Given the description of an element on the screen output the (x, y) to click on. 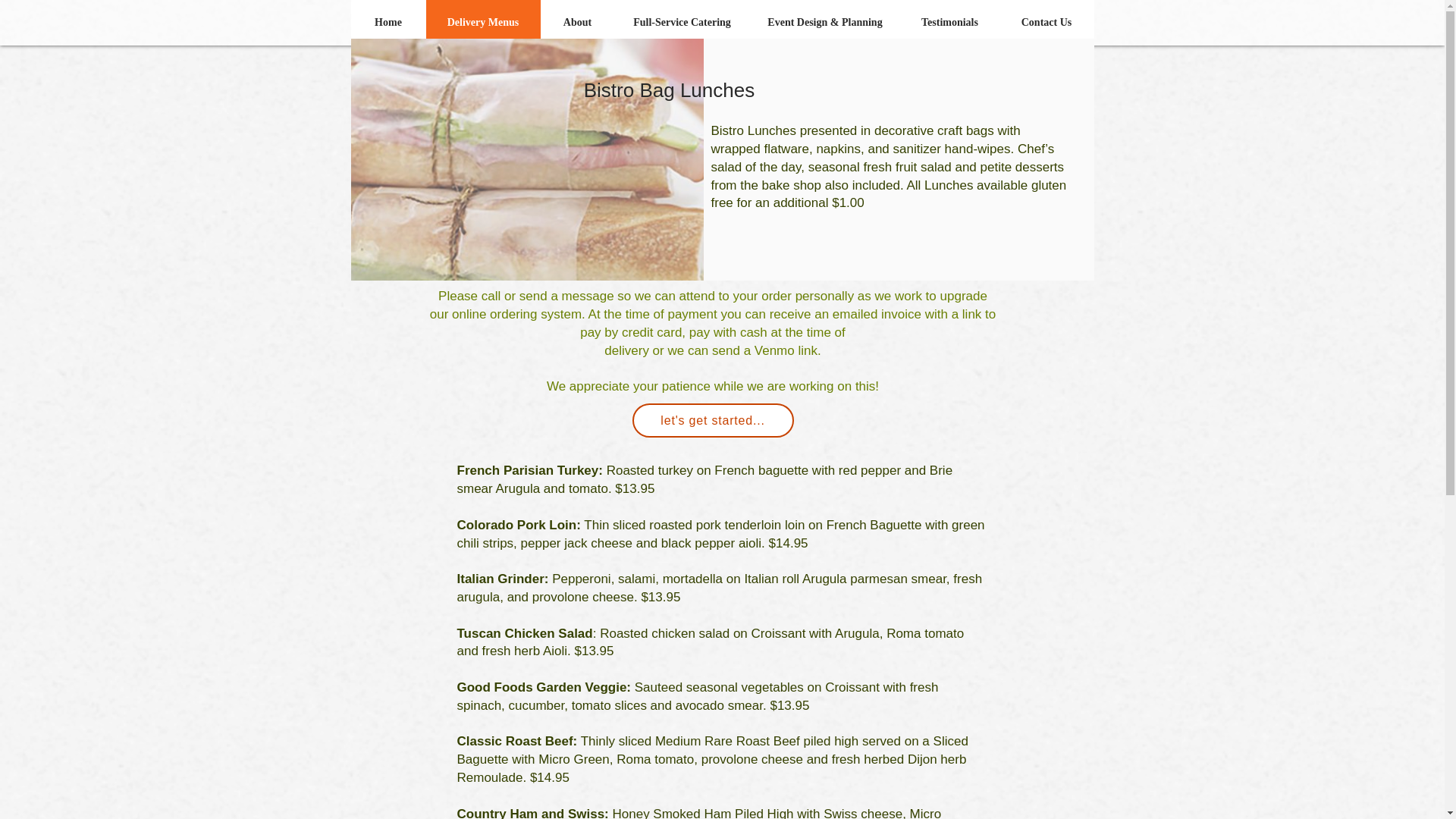
Home (387, 22)
Full-Service Catering (681, 22)
let's get started... (712, 420)
Delivery Menus (483, 22)
Testimonials (949, 22)
About (577, 22)
Contact Us (1046, 22)
